Given the description of an element on the screen output the (x, y) to click on. 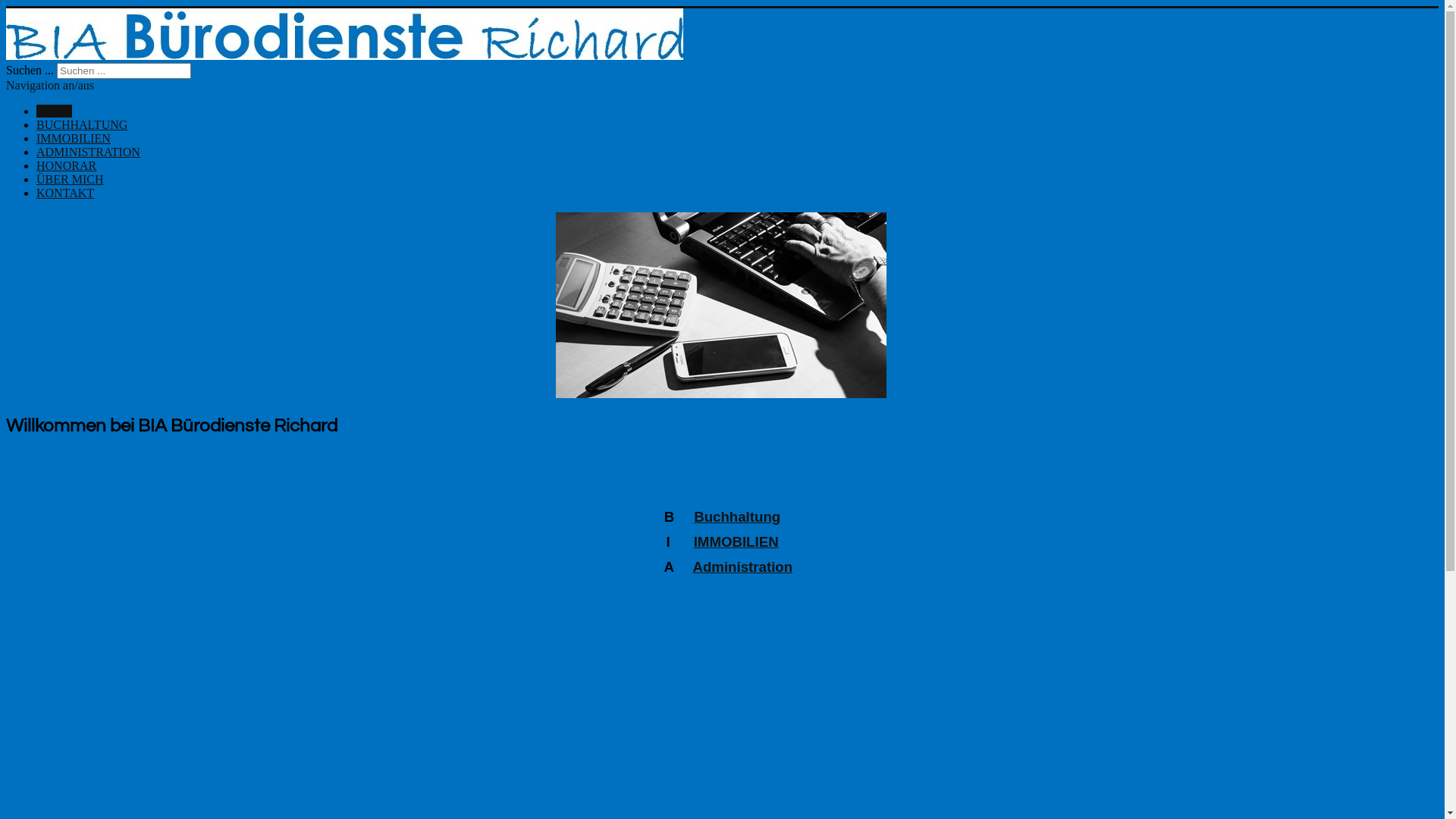
KONTAKT Element type: text (65, 192)
IMMOBILIEN Element type: text (73, 137)
IMMOBILIEN Element type: text (735, 541)
HOME Element type: text (54, 110)
Navigation an/aus Element type: text (50, 84)
BUCHHALTUNG Element type: text (81, 124)
ADMINISTRATION Element type: text (88, 151)
HONORAR Element type: text (66, 165)
Buchhaltung Element type: text (736, 516)
Administration Element type: text (742, 566)
